Given the description of an element on the screen output the (x, y) to click on. 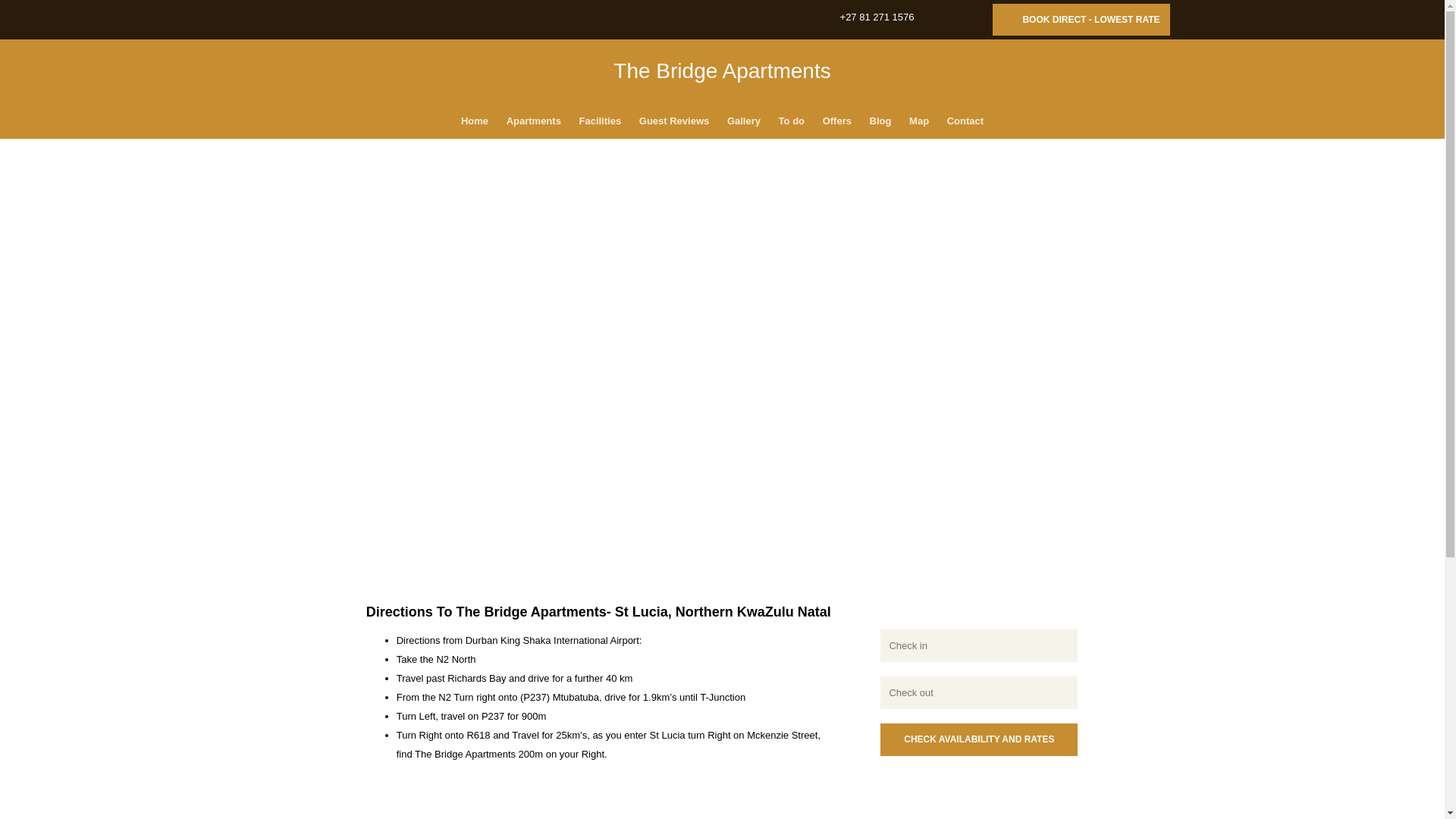
Check Availability and Rates (978, 739)
